Given the description of an element on the screen output the (x, y) to click on. 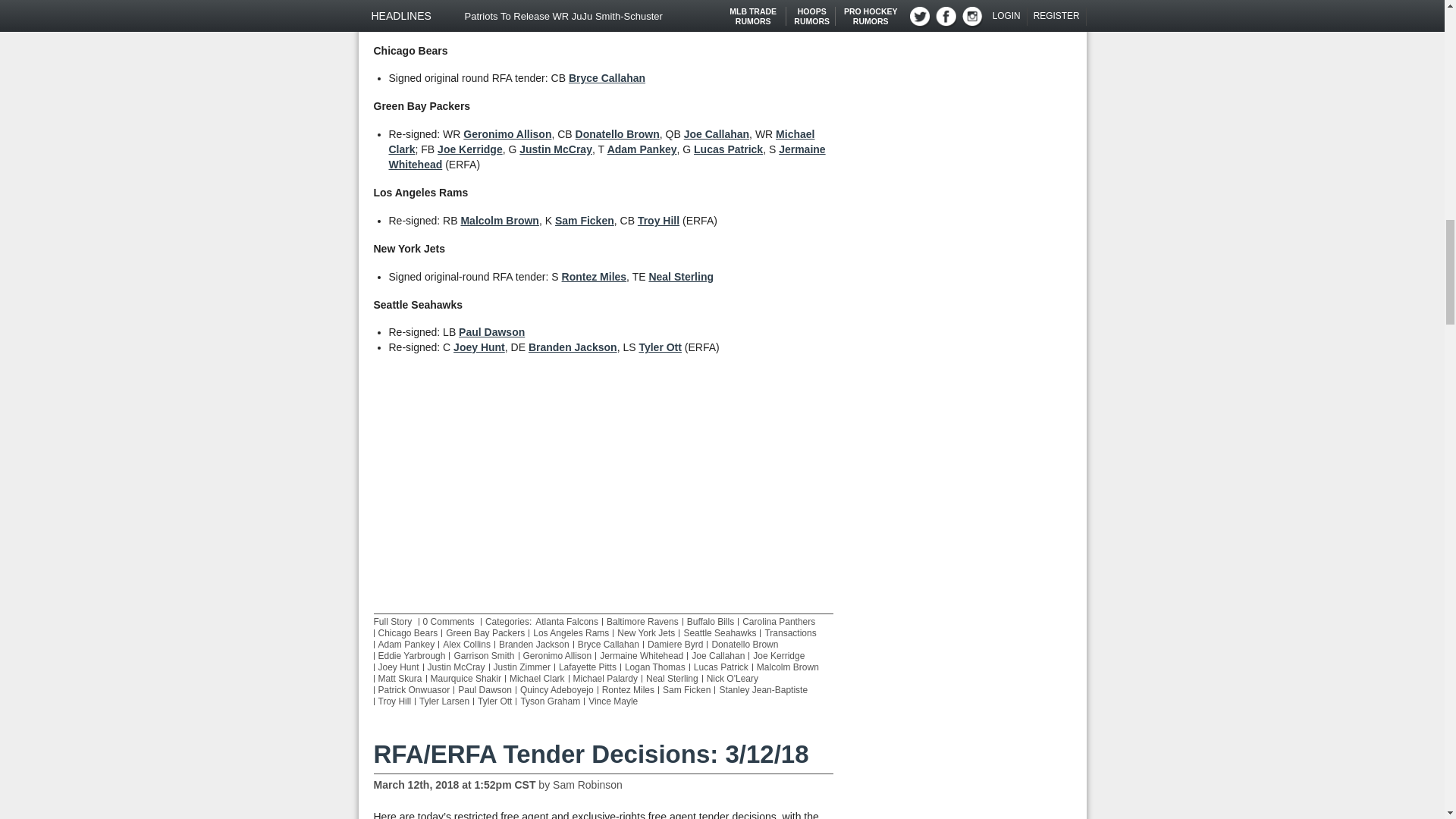
View all posts in Baltimore Ravens (642, 621)
View all posts in Carolina Panthers (778, 621)
View all posts in Green Bay Packers (484, 633)
View all posts in Chicago Bears (407, 633)
View all posts in Buffalo Bills (710, 621)
View all posts in Atlanta Falcons (566, 621)
